Given the description of an element on the screen output the (x, y) to click on. 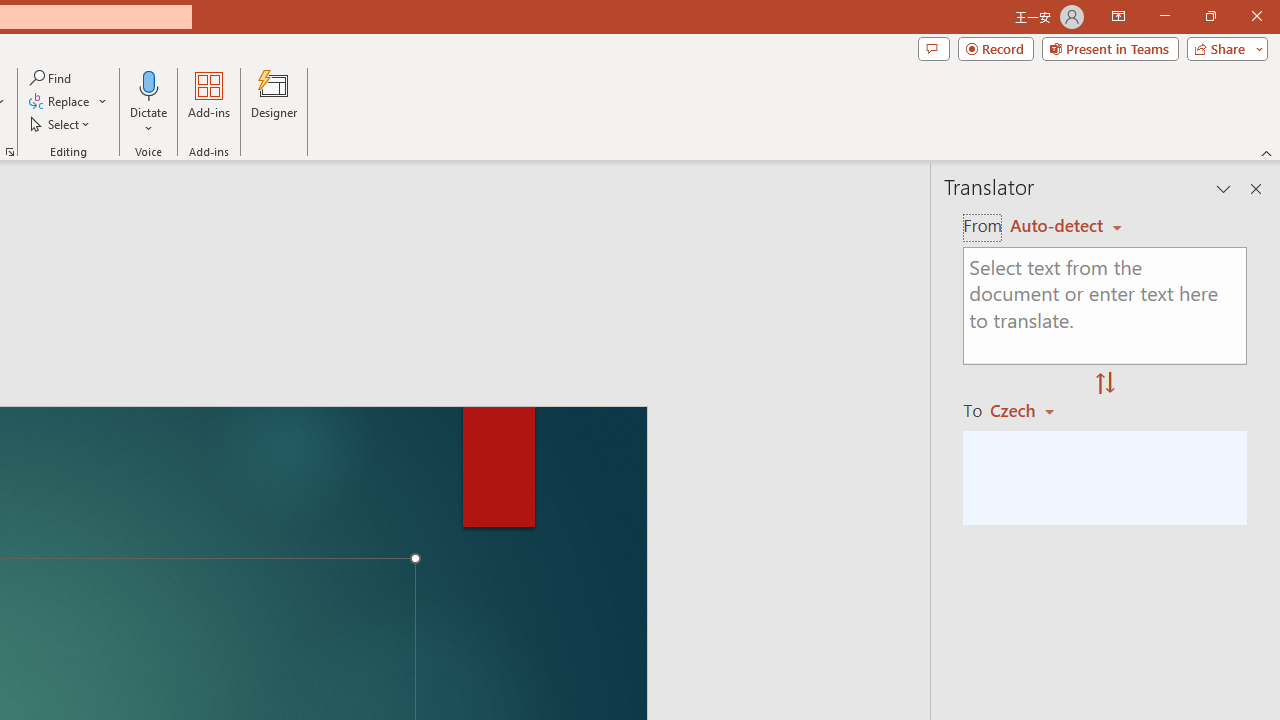
Auto-detect (1066, 225)
